Given the description of an element on the screen output the (x, y) to click on. 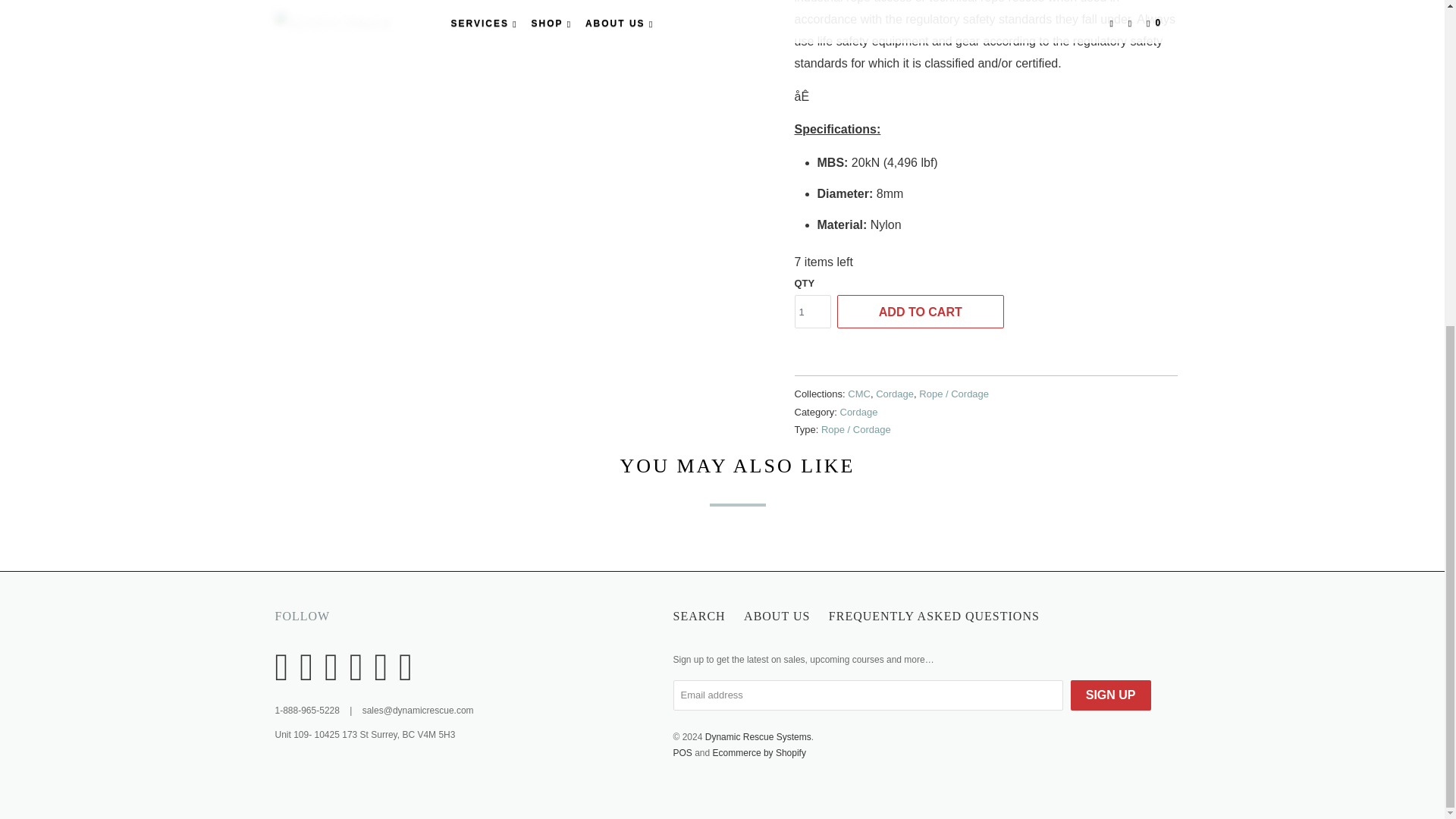
Products tagged Cordage (858, 411)
1 (812, 311)
CMC (858, 393)
Cordage (895, 393)
Sign Up (1110, 695)
